Given the description of an element on the screen output the (x, y) to click on. 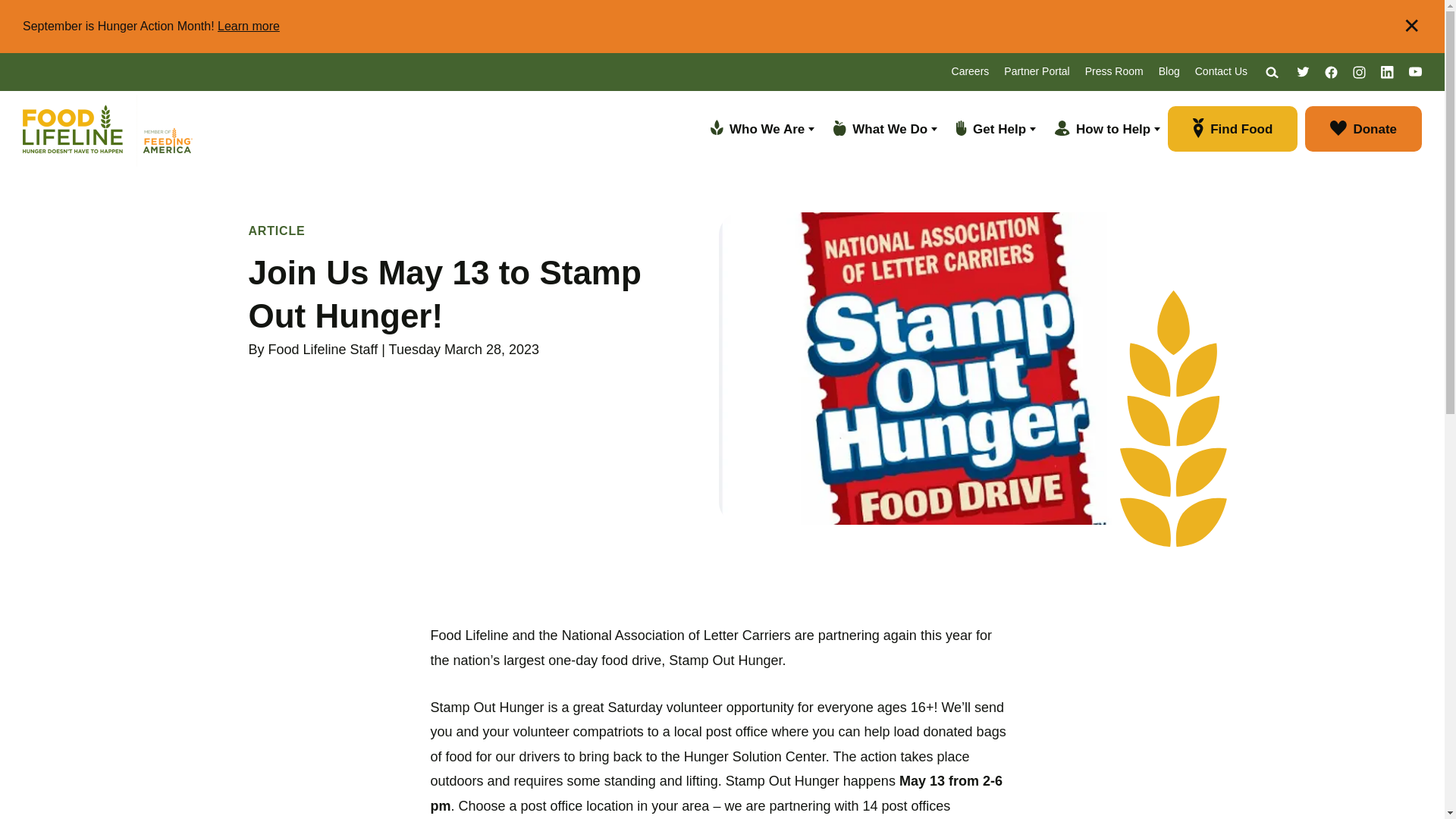
homepage (107, 131)
Learn more (761, 128)
heart (247, 25)
volunteer (1338, 127)
Skip to Main Content (1107, 128)
